Given the description of an element on the screen output the (x, y) to click on. 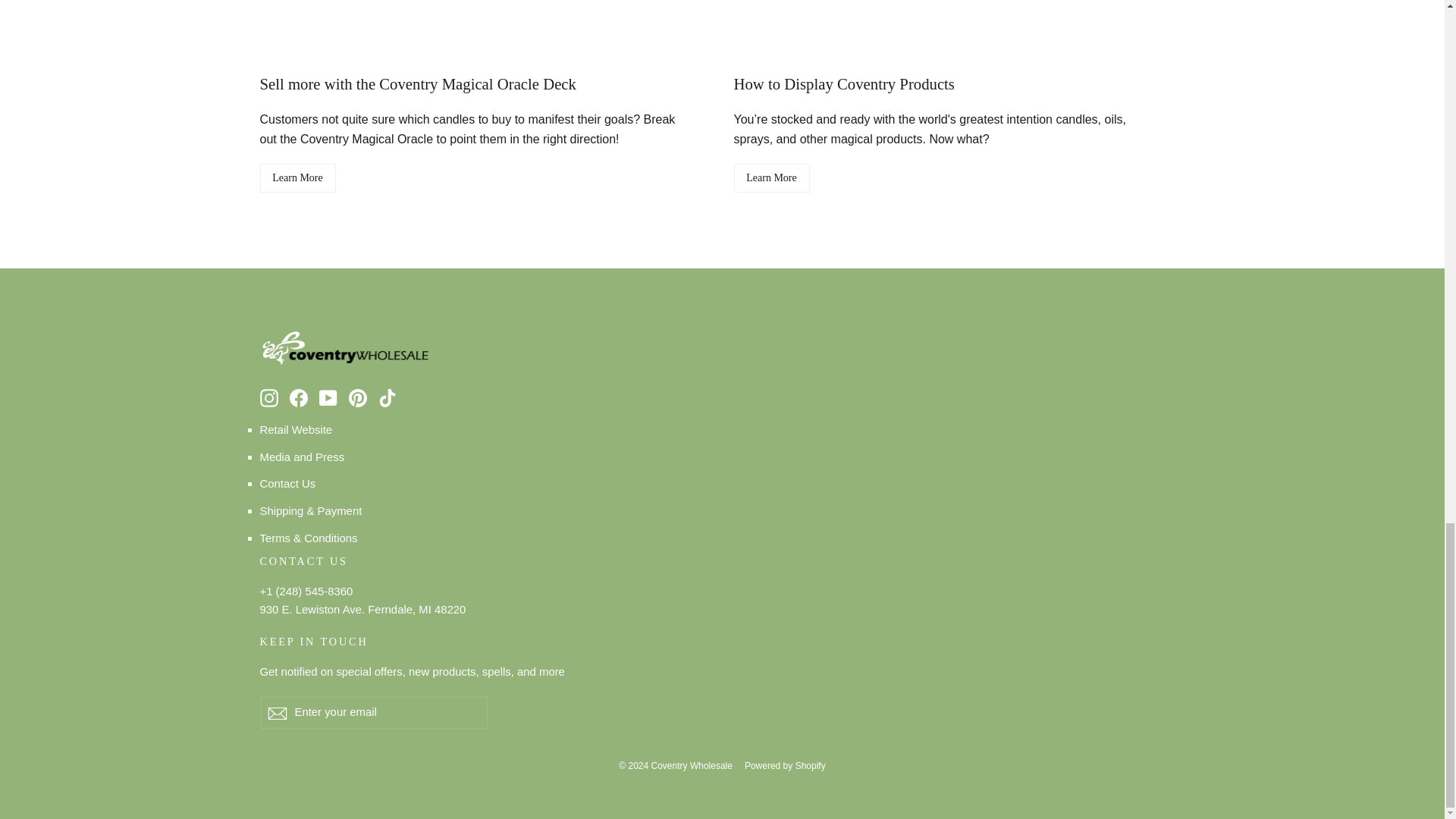
Coventry Wholesale on Facebook (298, 397)
Coventry Wholesale on TikTok (386, 397)
Coventry Wholesale on Pinterest (357, 397)
Coventry Wholesale on YouTube (327, 397)
Coventry Wholesale on Instagram (268, 397)
